Given the description of an element on the screen output the (x, y) to click on. 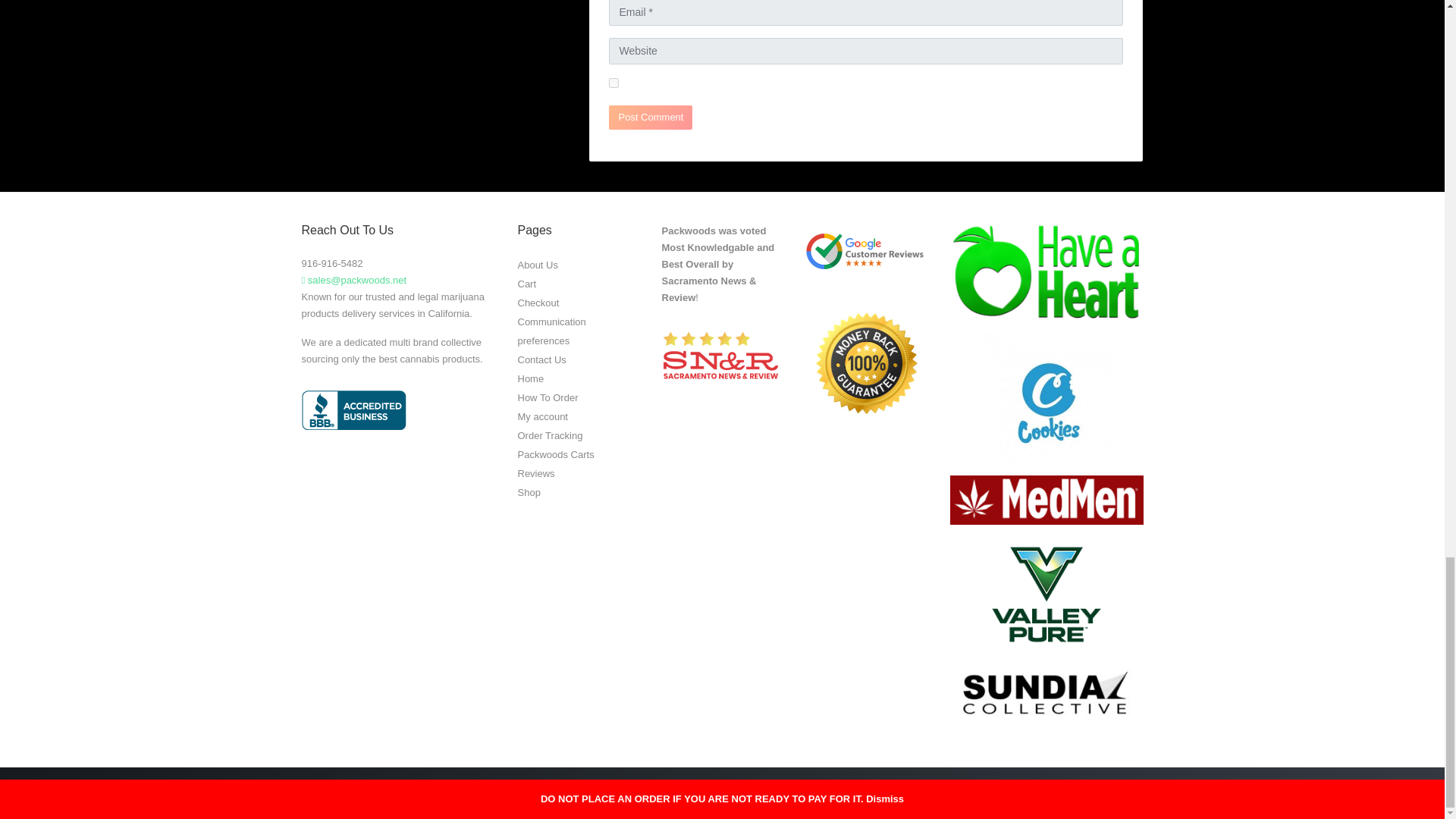
My account (541, 416)
Home (529, 378)
Post Comment (650, 117)
Communication preferences (550, 331)
Reviews (535, 473)
yes (613, 82)
Contact Us (541, 359)
Checkout (537, 302)
Order Tracking (549, 435)
Post Comment (650, 117)
